Given the description of an element on the screen output the (x, y) to click on. 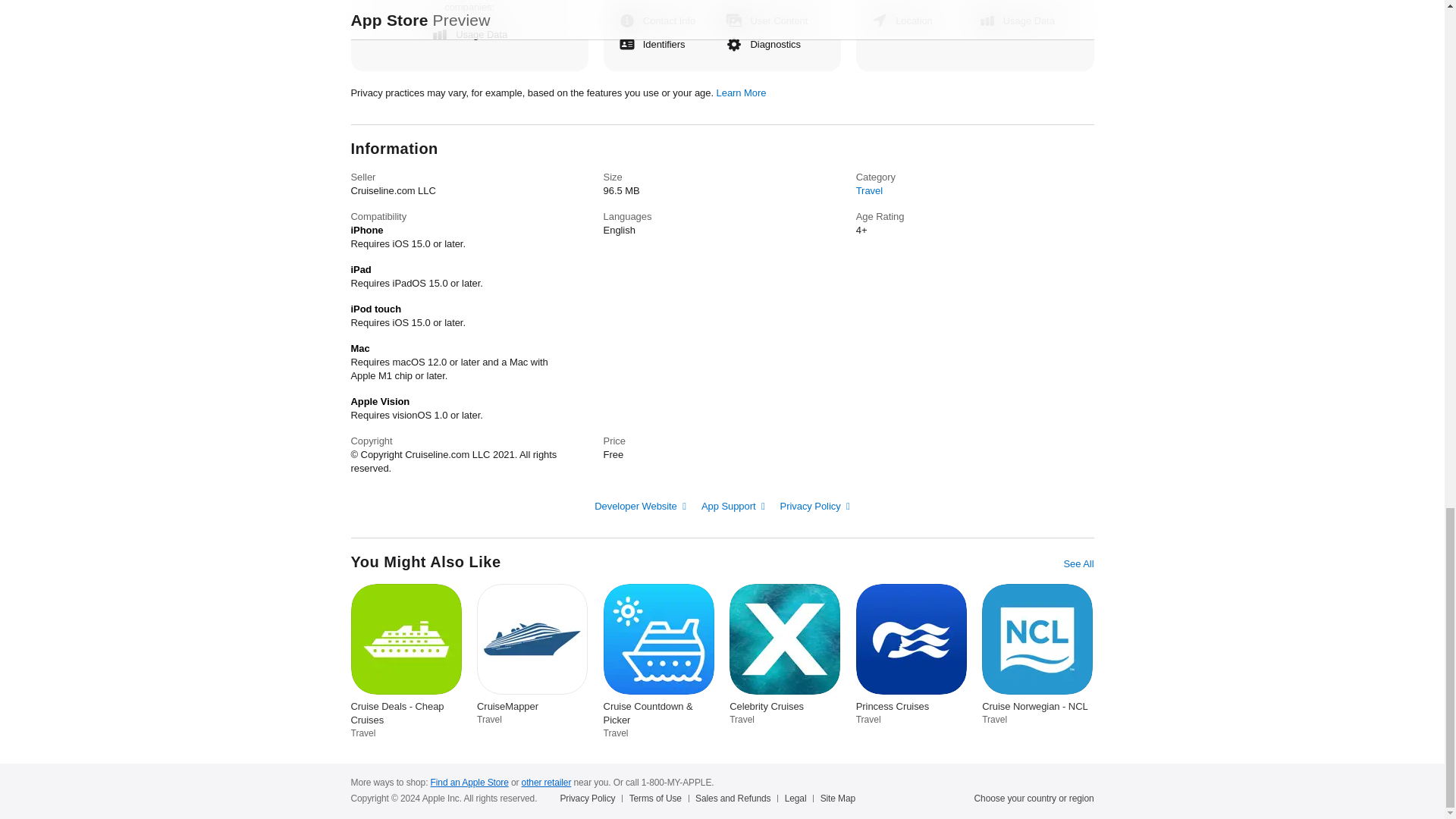
Choose your country or region (1034, 797)
